Given the description of an element on the screen output the (x, y) to click on. 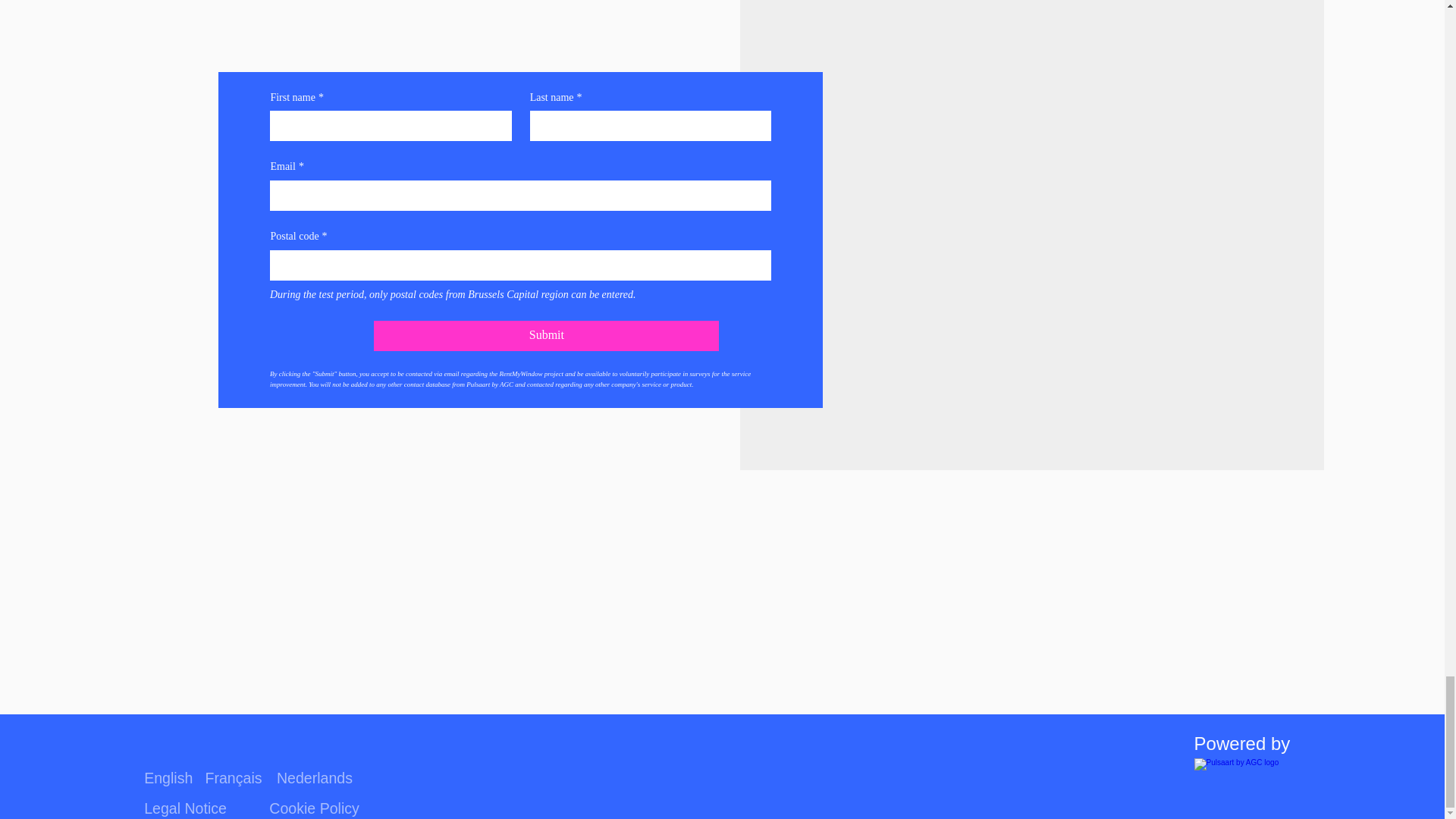
English (168, 777)
Nederlands (314, 777)
Submit (546, 336)
Legal Notice (185, 808)
Cookie Policy (314, 808)
